Given the description of an element on the screen output the (x, y) to click on. 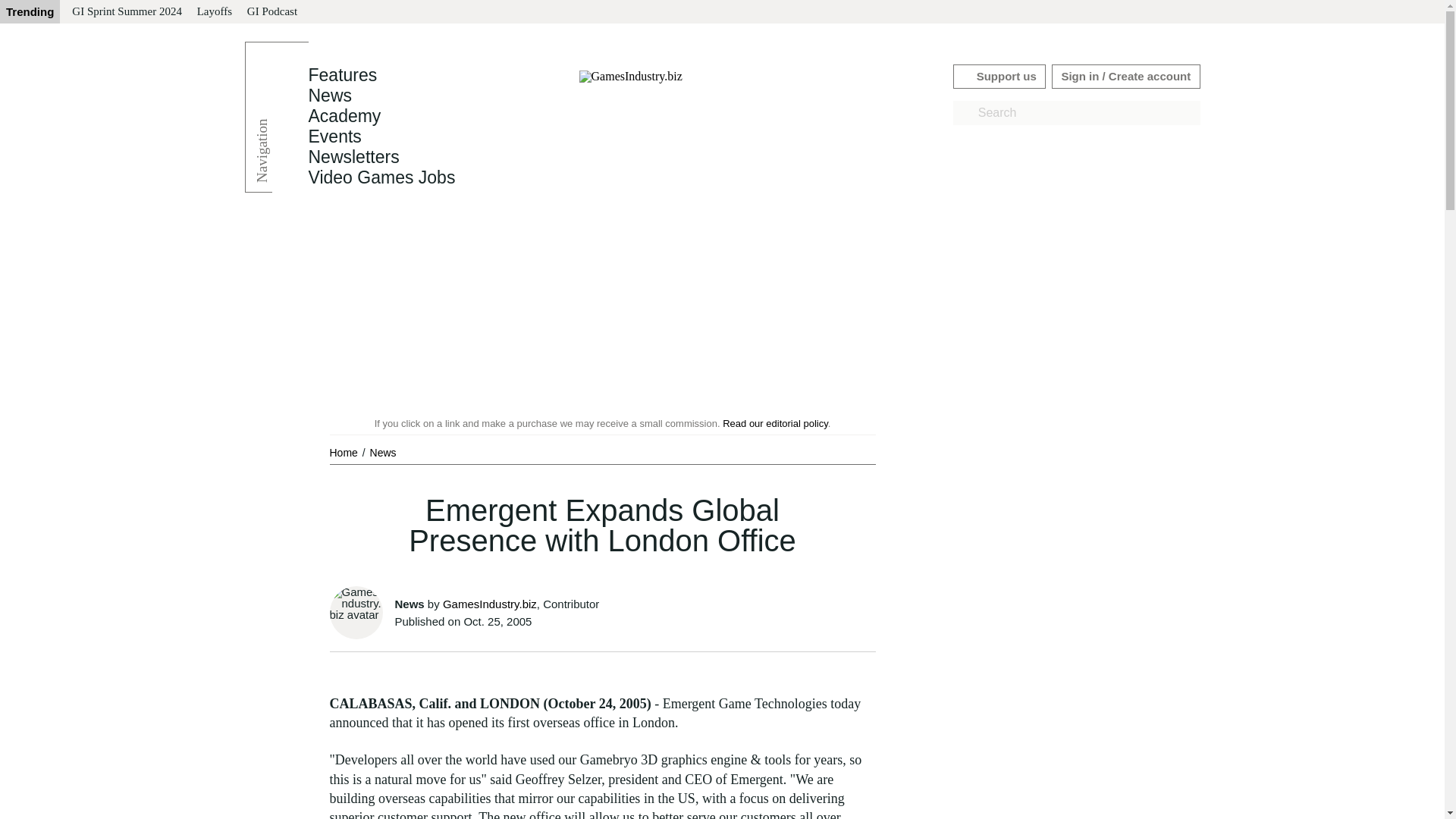
Events (334, 136)
GI Podcast (271, 11)
News (382, 452)
Academy (343, 116)
Newsletters (352, 157)
Features (342, 75)
GamesIndustry.biz (489, 603)
Layoffs (214, 11)
Video Games Jobs (380, 177)
Home (344, 452)
News (382, 452)
GI Sprint Summer 2024 (126, 11)
Layoffs (214, 11)
Events (334, 136)
Support us (999, 75)
